Given the description of an element on the screen output the (x, y) to click on. 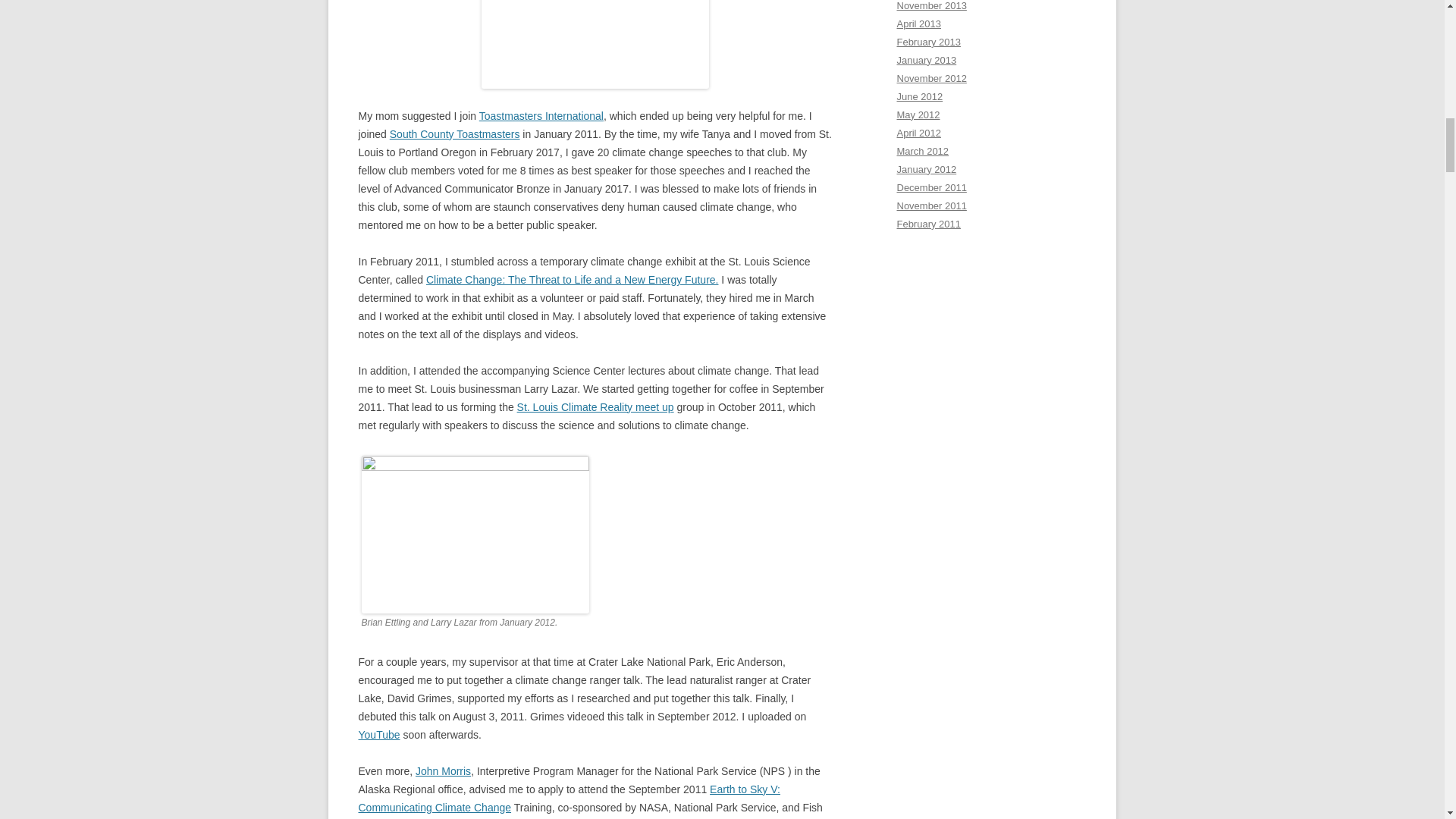
South County Toastmasters (454, 133)
Climate Change: The Threat to Life and a New Energy Future. (571, 279)
YouTube (378, 734)
St. Louis Climate Reality meet up (595, 407)
Toastmasters International (541, 115)
Earth to Sky V: Communicating Climate Change (568, 798)
John Morris (442, 770)
